Given the description of an element on the screen output the (x, y) to click on. 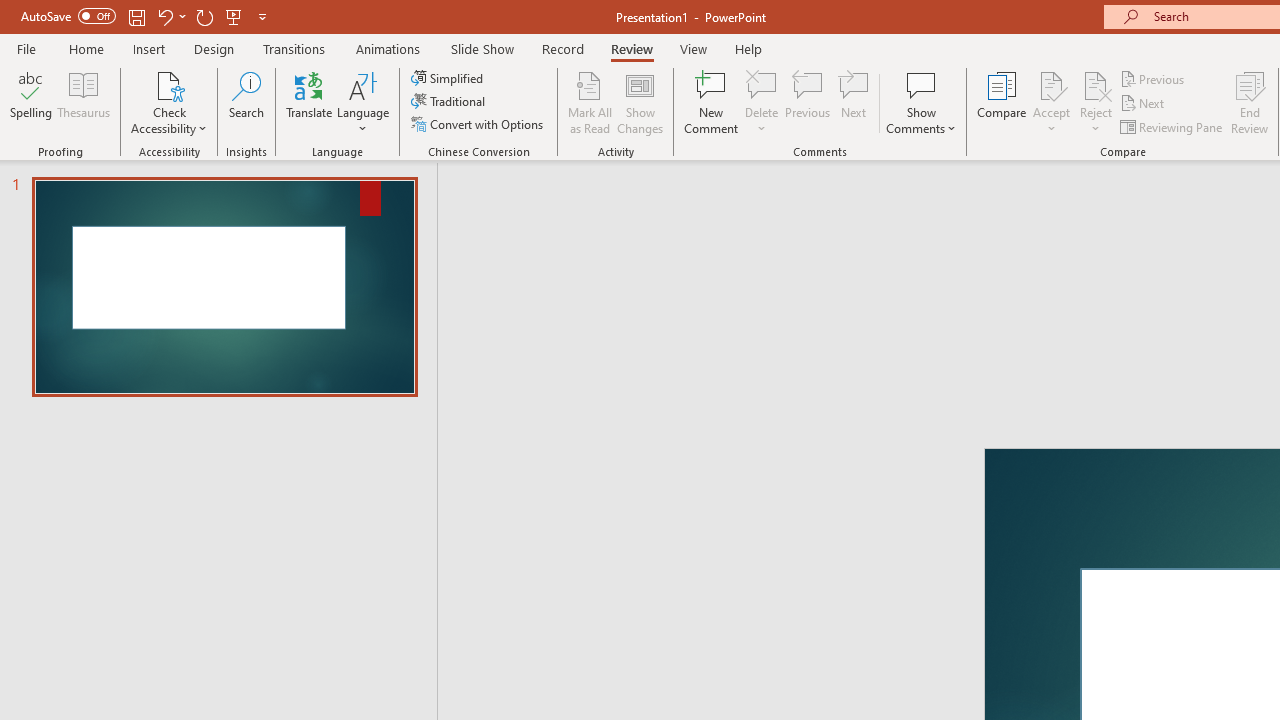
From Beginning (234, 15)
Previous (1153, 78)
Convert with Options... (479, 124)
Delete (762, 102)
Home (86, 48)
Reject (1096, 102)
New Comment (711, 102)
Check Accessibility (169, 84)
View (693, 48)
Translate (309, 102)
Review (631, 48)
Spelling... (31, 102)
Design (214, 48)
Next (1144, 103)
